Given the description of an element on the screen output the (x, y) to click on. 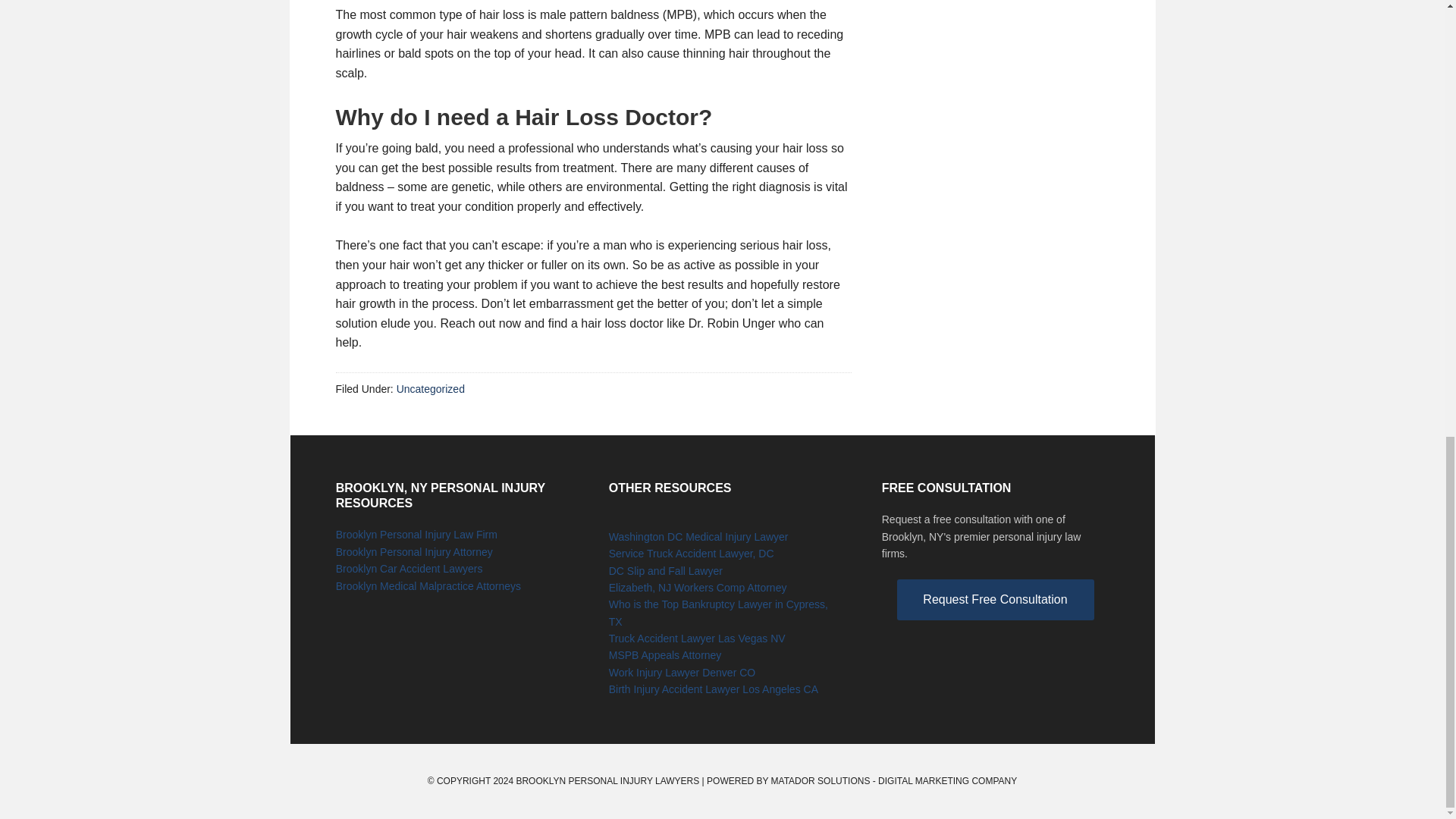
Birth Injury Accident Lawyer Los Angeles CA (713, 689)
Brooklyn Car Accident Lawyers (409, 568)
Brooklyn Personal Injury Law Firm (416, 534)
Brooklyn Medical Malpractice Attorneys (428, 585)
Uncategorized (430, 388)
Who is the Top Bankruptcy Lawyer in Cypress, TX (718, 612)
Truck Accident Lawyer Las Vegas NV (697, 638)
Service Truck Accident Lawyer, DC (691, 553)
Brooklyn Personal Injury Attorney (414, 551)
MSPB Appeals Attorney (665, 654)
